Given the description of an element on the screen output the (x, y) to click on. 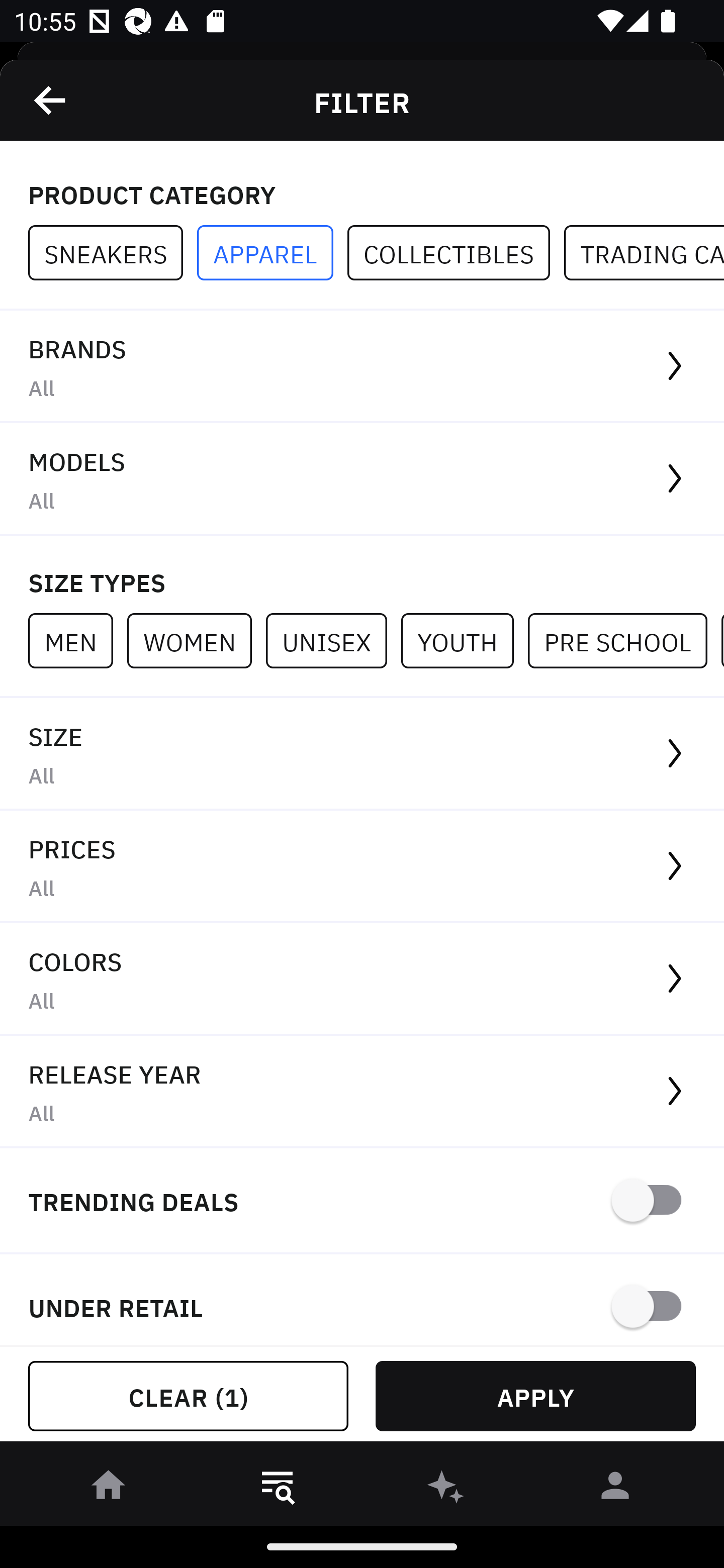
 (50, 100)
SNEAKERS (112, 252)
APPAREL (271, 252)
COLLECTIBLES (455, 252)
TRADING CARDS (643, 252)
BRANDS All (362, 366)
MODELS All (362, 479)
MEN (77, 640)
WOMEN (196, 640)
UNISEX (333, 640)
YOUTH (464, 640)
PRE SCHOOL (624, 640)
SIZE All (362, 753)
PRICES All (362, 866)
COLORS All (362, 979)
RELEASE YEAR All (362, 1091)
TRENDING DEALS (362, 1200)
UNDER RETAIL (362, 1299)
CLEAR (1) (188, 1396)
APPLY (535, 1396)
󰋜 (108, 1488)
󱎸 (277, 1488)
󰫢 (446, 1488)
󰀄 (615, 1488)
